Given the description of an element on the screen output the (x, y) to click on. 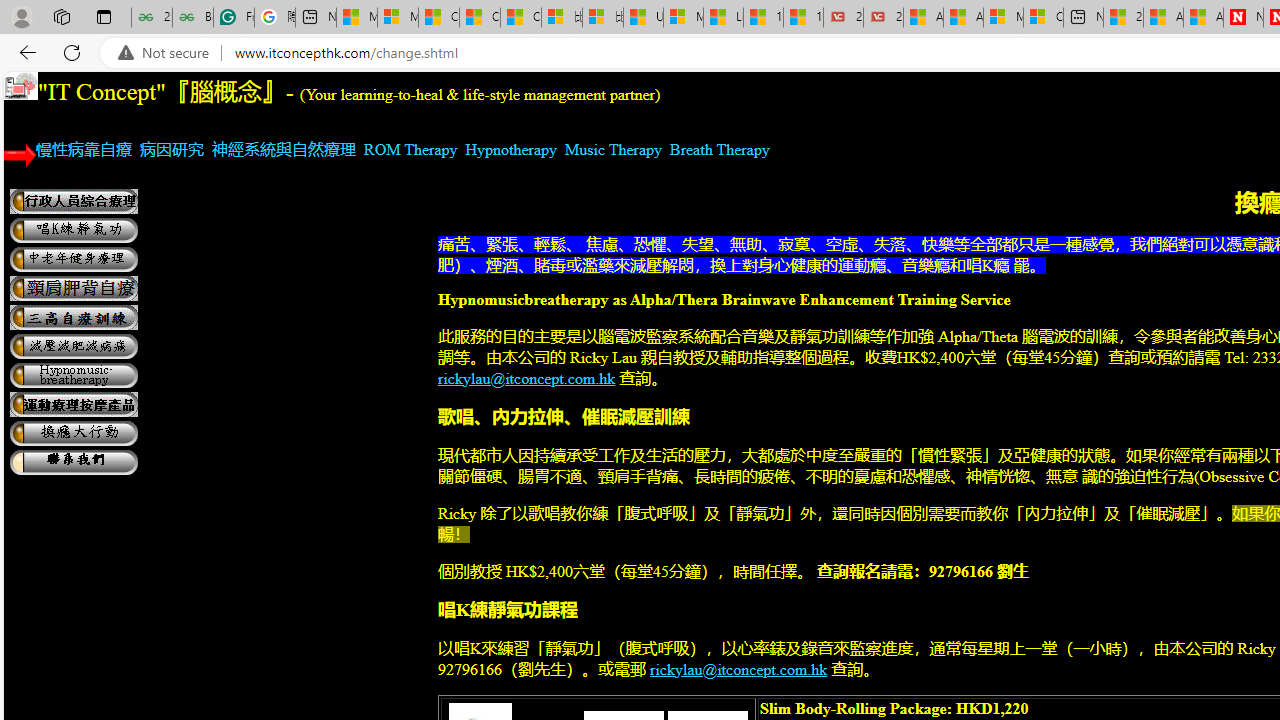
To get missing image descriptions, open the context menu. (20, 86)
Not secure (168, 53)
Lifestyle - MSN (723, 17)
Music Therapy (613, 149)
Personal Profile (21, 16)
Microsoft Services Agreement (1003, 17)
Cloud Computing Services | Microsoft Azure (1043, 17)
Tab actions menu (104, 16)
Best SSL Certificates Provider in India - GeeksforGeeks (192, 17)
Hypnotherapy (510, 149)
Newsweek - News, Analysis, Politics, Business, Technology (1243, 17)
21 Movies That Outdid the Books They Were Based On (883, 17)
